Given the description of an element on the screen output the (x, y) to click on. 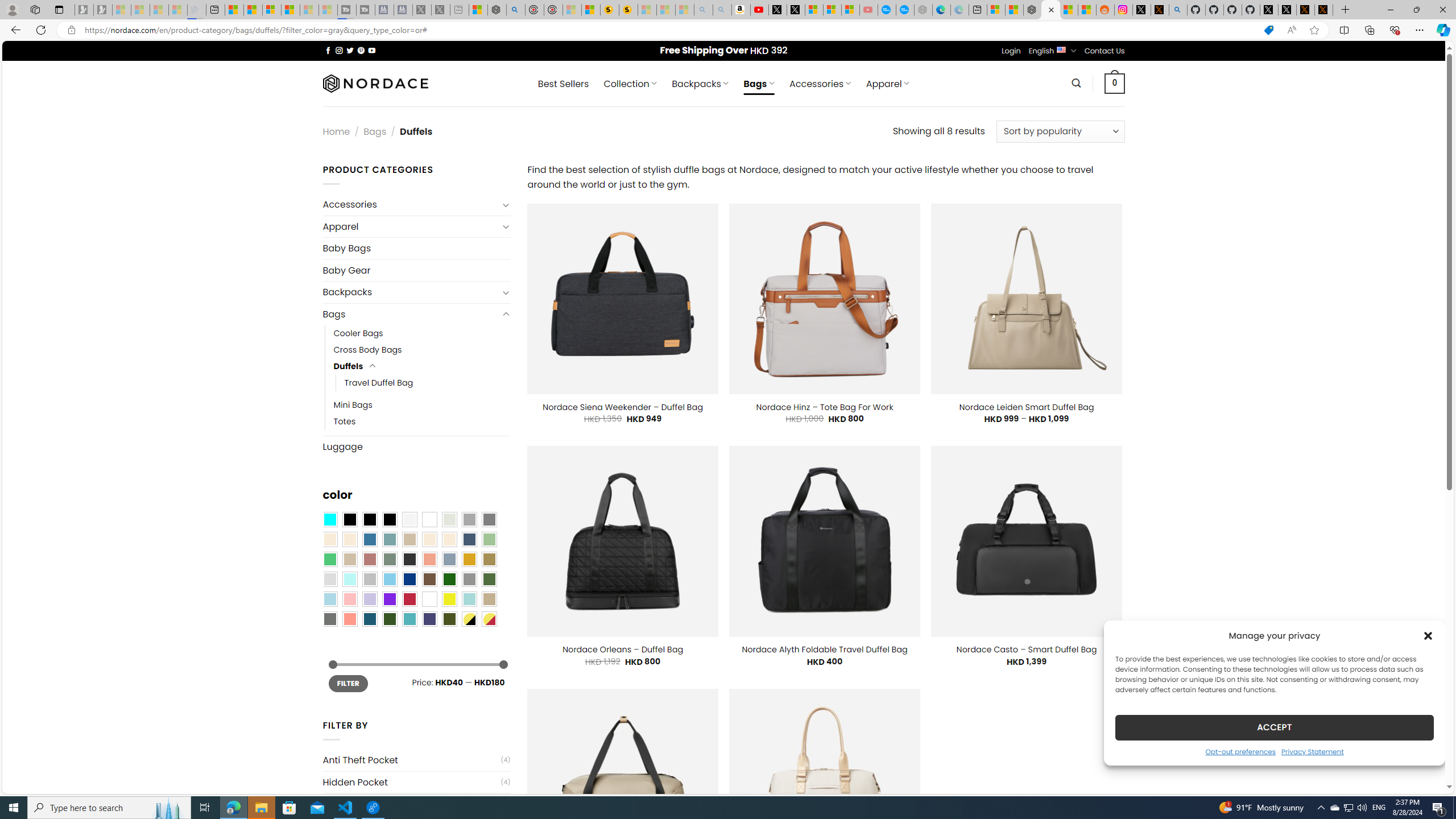
Apparel (410, 226)
Cooler Bags (422, 333)
Follow on Instagram (338, 49)
Microsoft account | Microsoft Account Privacy Settings (996, 9)
Log in to X / X (1142, 9)
Purple (389, 599)
Privacy Statement (1312, 750)
GitHub (@github) / X (1287, 9)
Blue (369, 539)
